Given the description of an element on the screen output the (x, y) to click on. 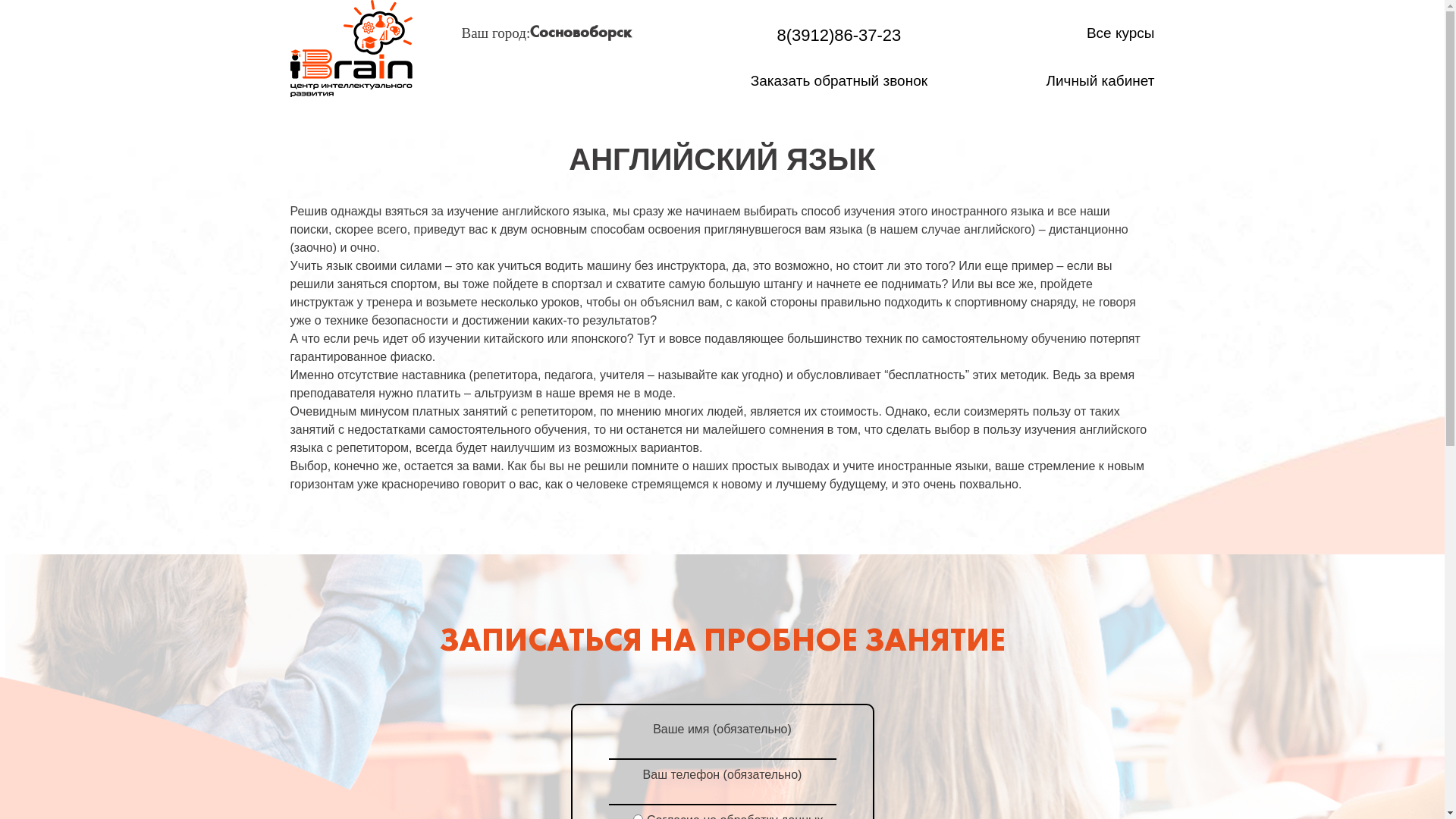
8(3912)86-37-23 Element type: text (838, 34)
